Given the description of an element on the screen output the (x, y) to click on. 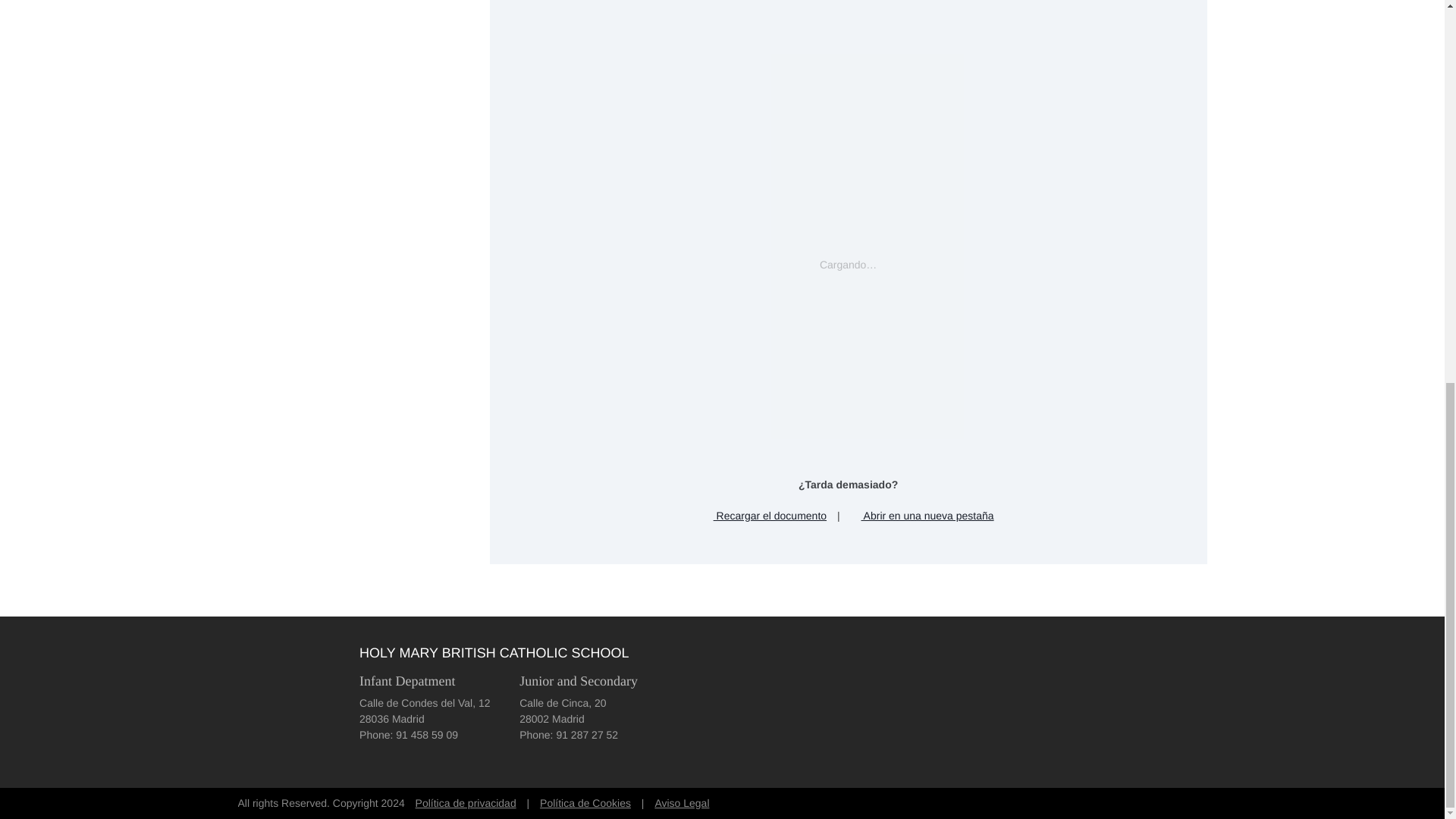
Aviso Legal (681, 803)
